Given the description of an element on the screen output the (x, y) to click on. 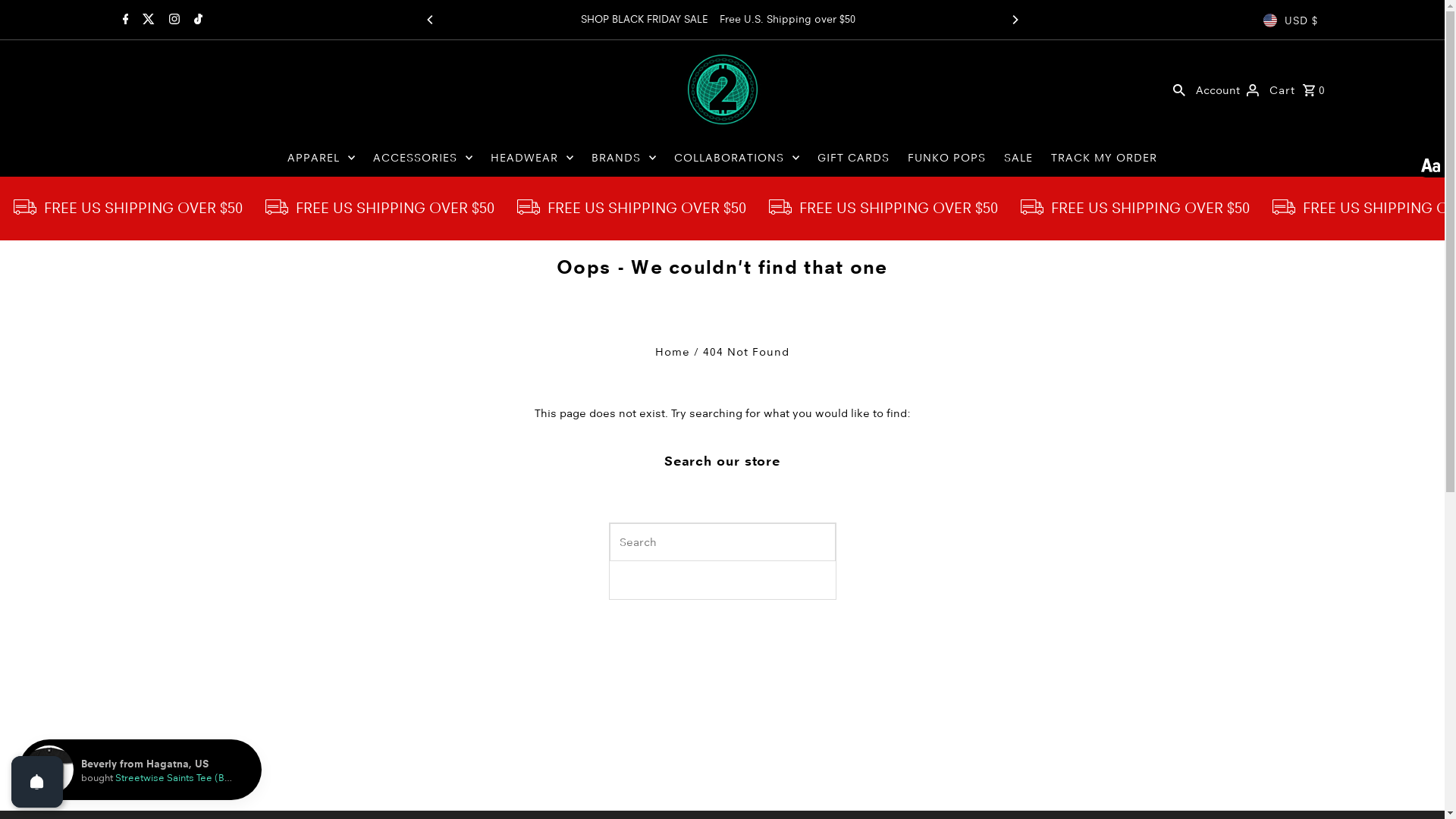
GIFT CARDS Element type: text (853, 157)
FUNKO POPS Element type: text (946, 157)
Home Element type: text (672, 351)
SALE Element type: text (1018, 157)
TRACK MY ORDER Element type: text (1103, 157)
HEADWEAR Element type: text (531, 157)
ACCESSORIES Element type: text (422, 157)
BRANDS Element type: text (623, 157)
COLLABORATIONS Element type: text (736, 157)
Streetwise Saints Tee (Black) Element type: text (180, 777)
USD $ Element type: text (1290, 20)
APPAREL Element type: text (320, 157)
